Given the description of an element on the screen output the (x, y) to click on. 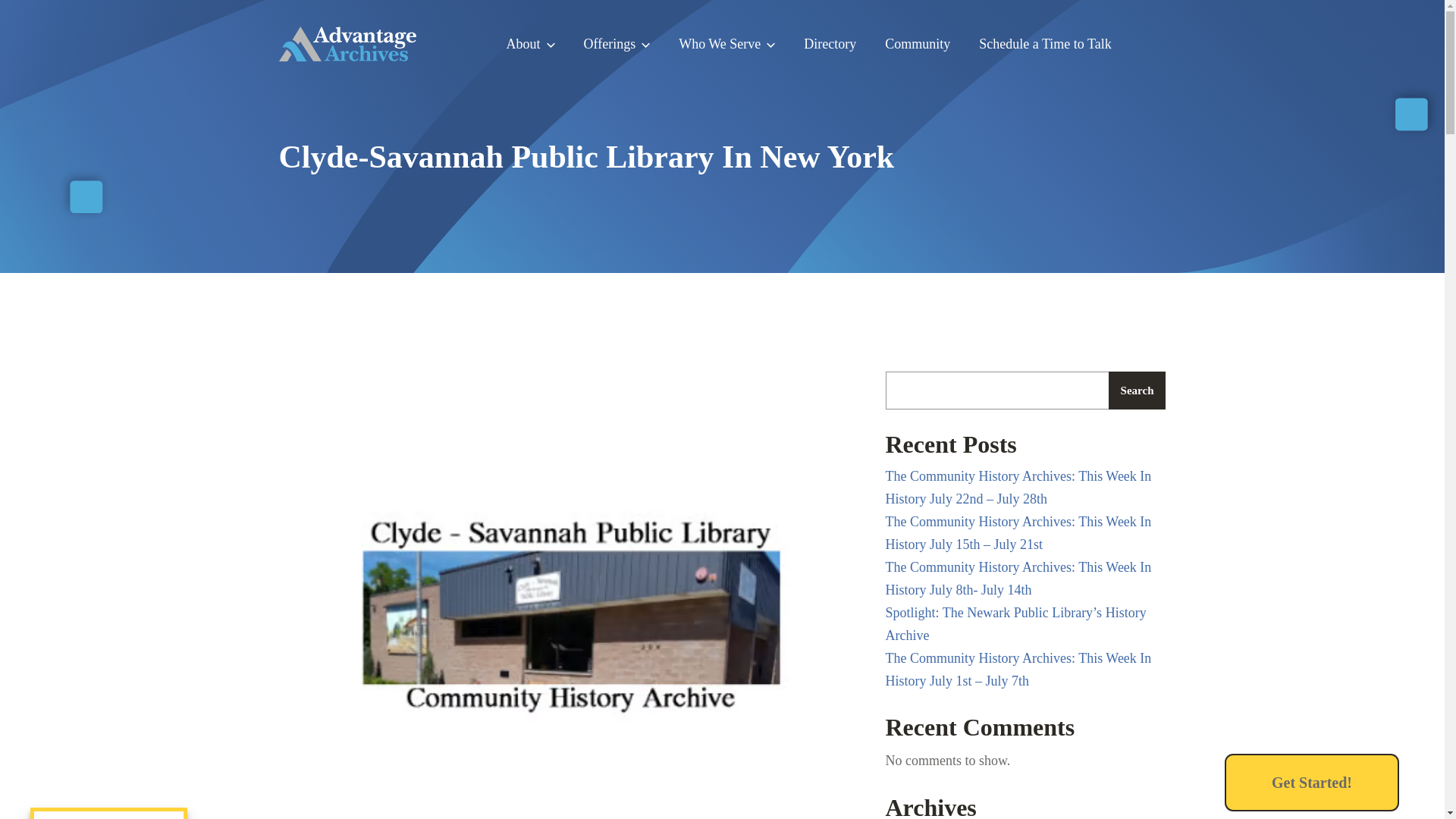
About (530, 43)
Offerings (616, 43)
About Us (530, 43)
Who We Serve (726, 43)
Our Services (616, 43)
Advantage Archives (347, 43)
